Given the description of an element on the screen output the (x, y) to click on. 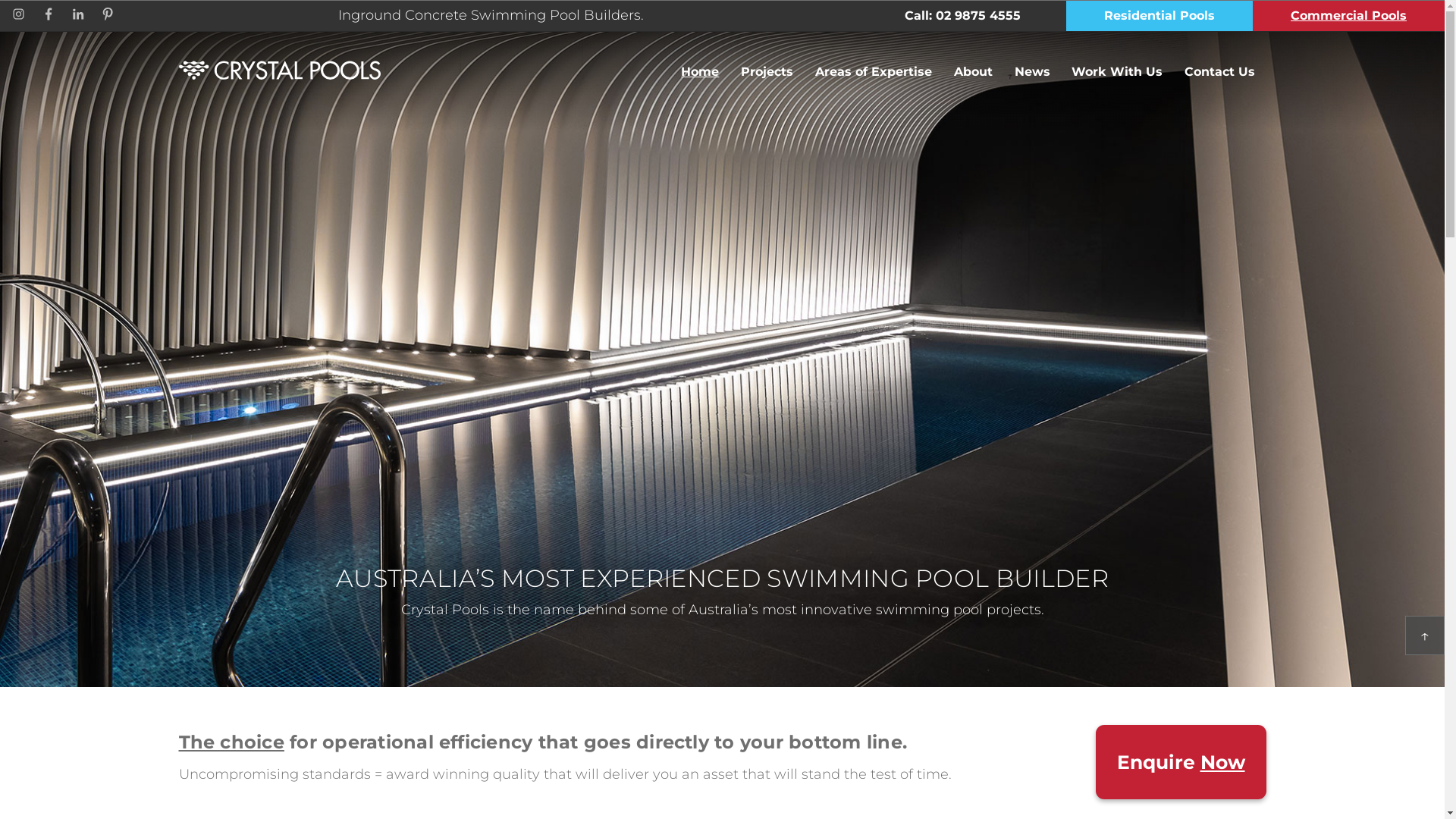
News Element type: text (1031, 72)
Pinterest Element type: text (107, 16)
LinkedIn Element type: text (78, 16)
Residential Pools Element type: text (1159, 15)
Facebook Element type: text (47, 16)
Call: 02 9875 4555 Element type: text (962, 15)
Instagram Element type: text (18, 16)
Home Element type: text (700, 72)
About Element type: text (972, 72)
Work With Us Element type: text (1116, 72)
Areas of Expertise Element type: text (873, 72)
Commercial Pools Element type: text (1348, 15)
Projects Element type: text (767, 72)
Back to Top Element type: text (1424, 635)
Contact Us Element type: text (1219, 72)
Enquire Now Element type: text (1180, 761)
